Given the description of an element on the screen output the (x, y) to click on. 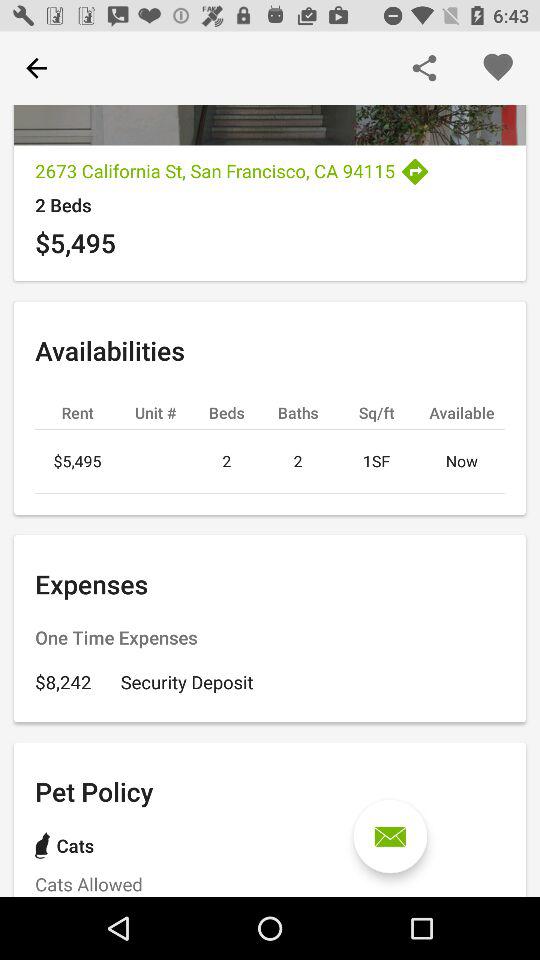
mark it favourite option (497, 68)
